Given the description of an element on the screen output the (x, y) to click on. 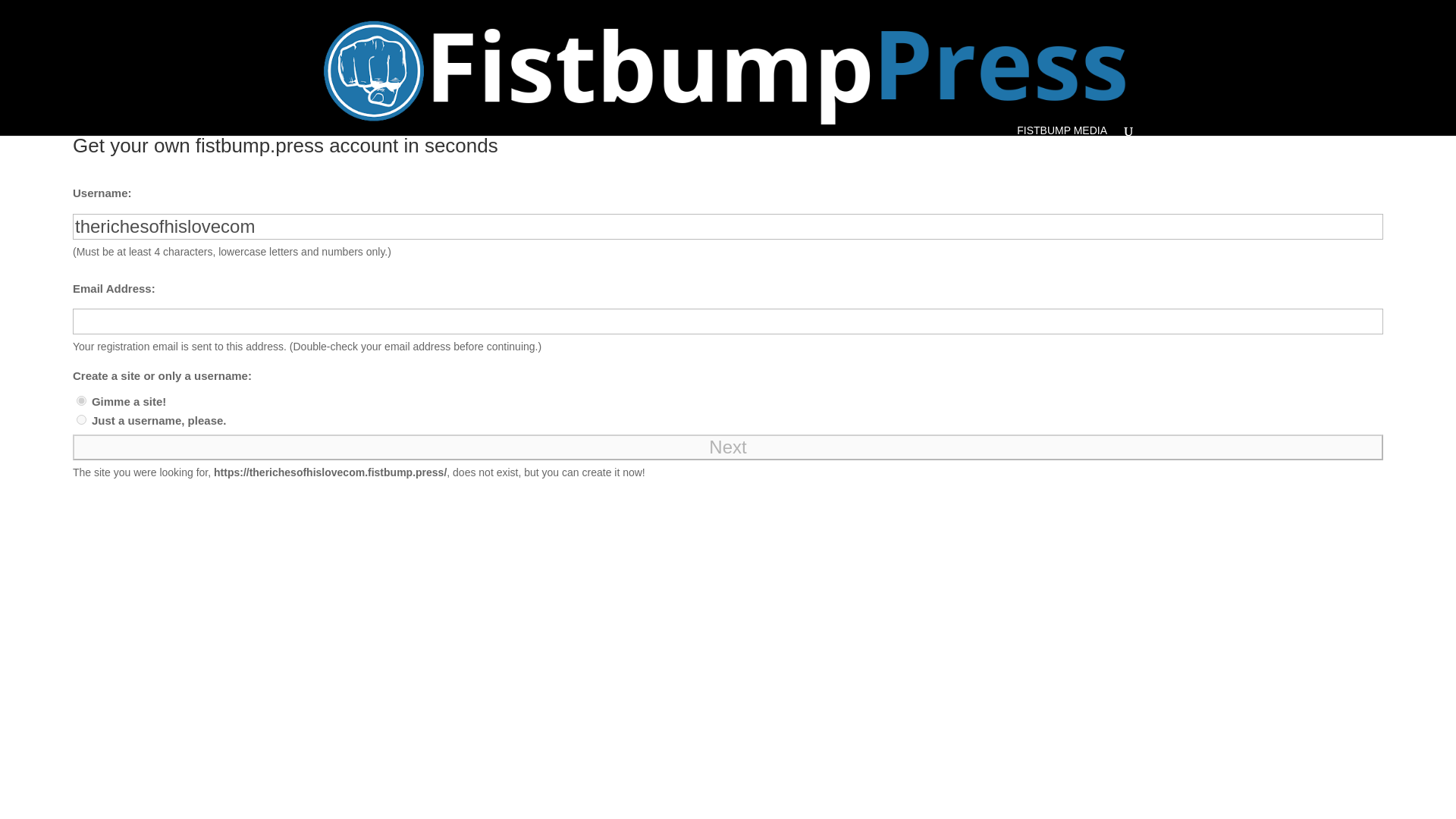
Next (727, 447)
FISTBUMP MEDIA (1061, 130)
Next (727, 447)
user (81, 419)
therichesofhislovecom (727, 226)
blog (81, 400)
